Given the description of an element on the screen output the (x, y) to click on. 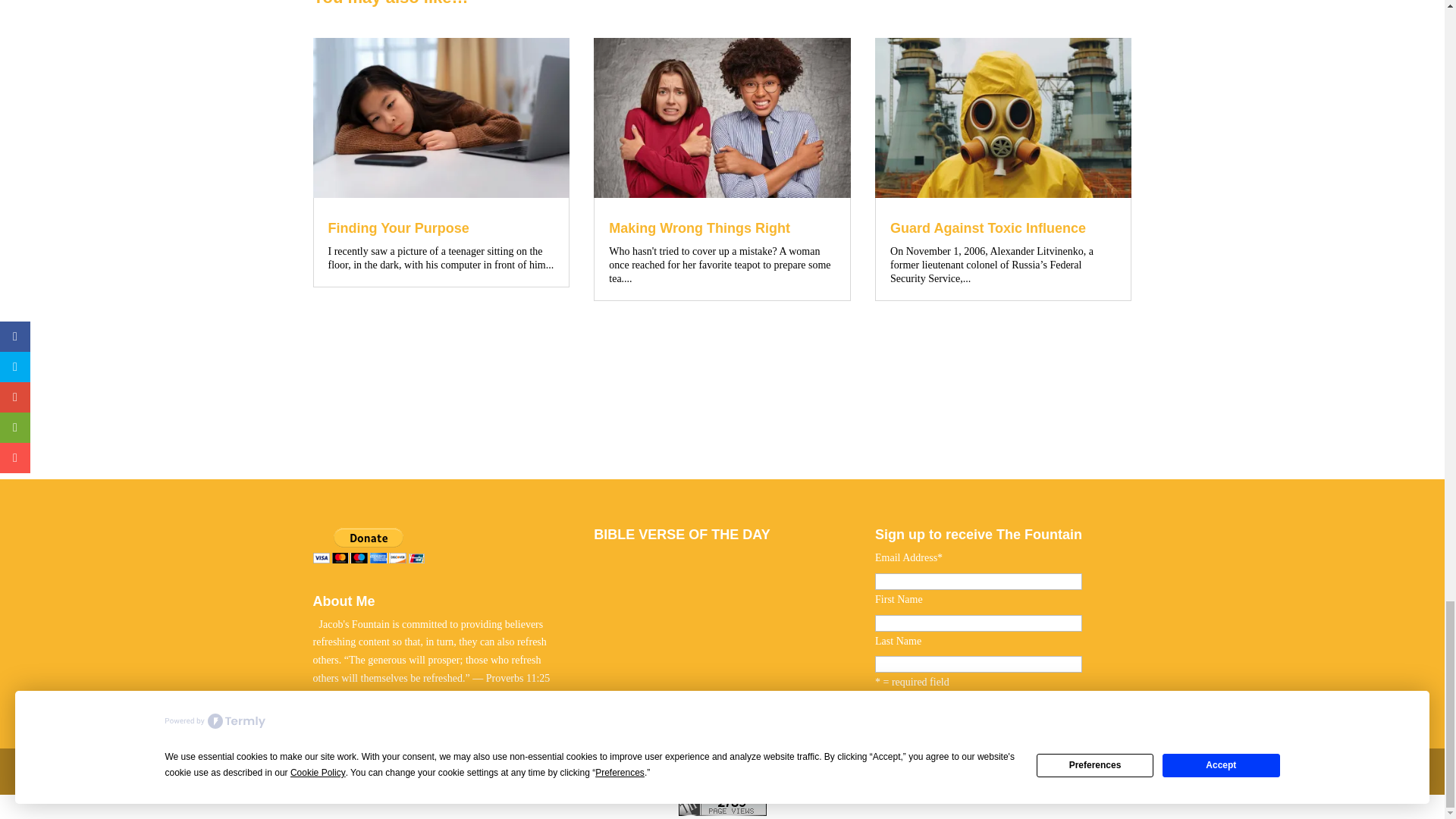
Subscribe (978, 714)
Making Wrong Things Right (699, 227)
Guard Against Toxic Influence (987, 227)
Finding Your Purpose (397, 227)
Subscribe (978, 714)
Edwin D. Arceo (403, 770)
